Given the description of an element on the screen output the (x, y) to click on. 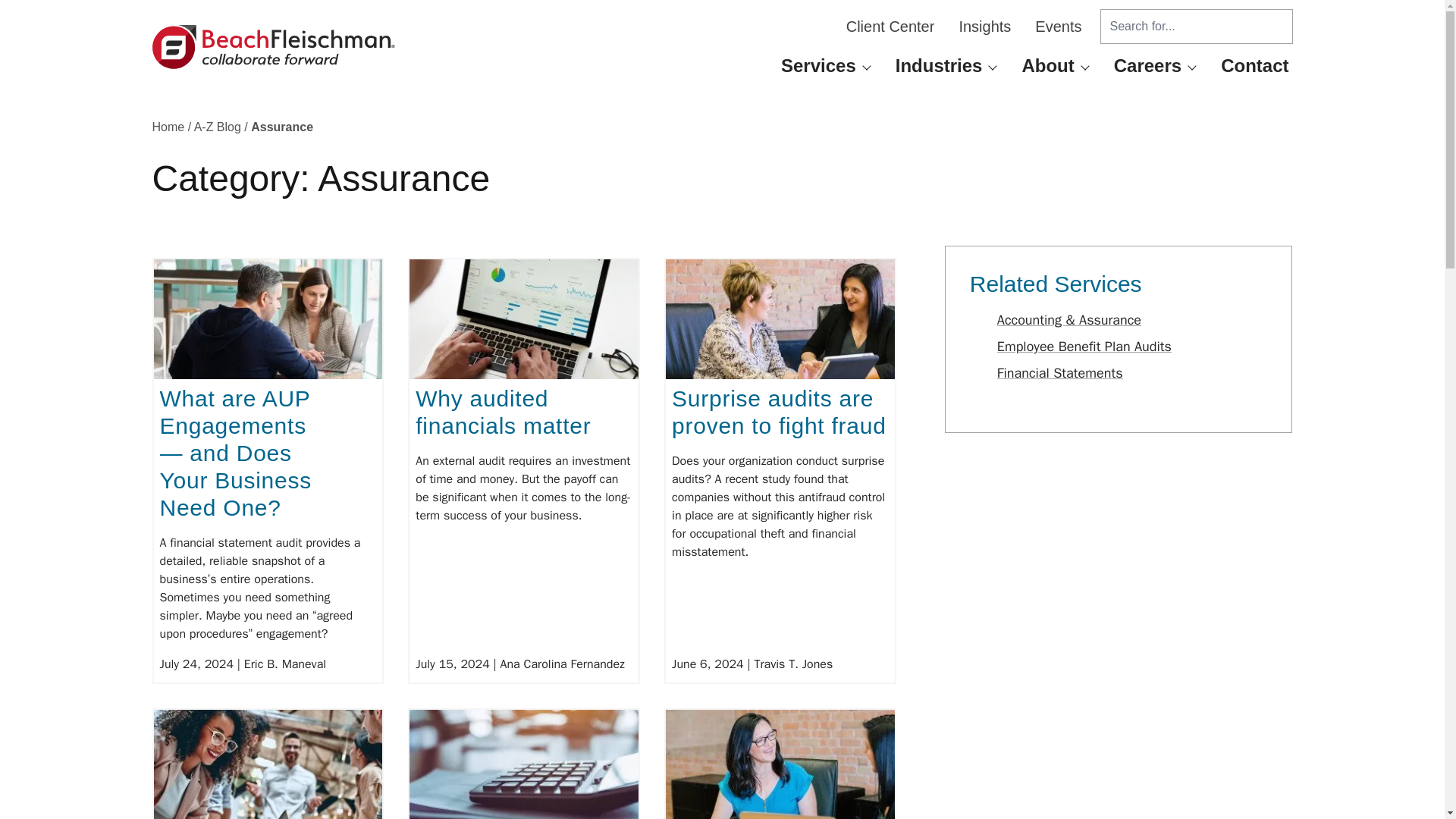
Posts by Eric B. Maneval (285, 664)
Go to BeachFleischman's front page (272, 46)
Posts by Ana Carolina Fernandez (562, 664)
Go to BeachFleischman CPAs. (167, 126)
About (1047, 65)
Industries (939, 65)
Posts by Travis T. Jones (793, 664)
Services (818, 65)
Go to A-Z Blog. (217, 126)
